Given the description of an element on the screen output the (x, y) to click on. 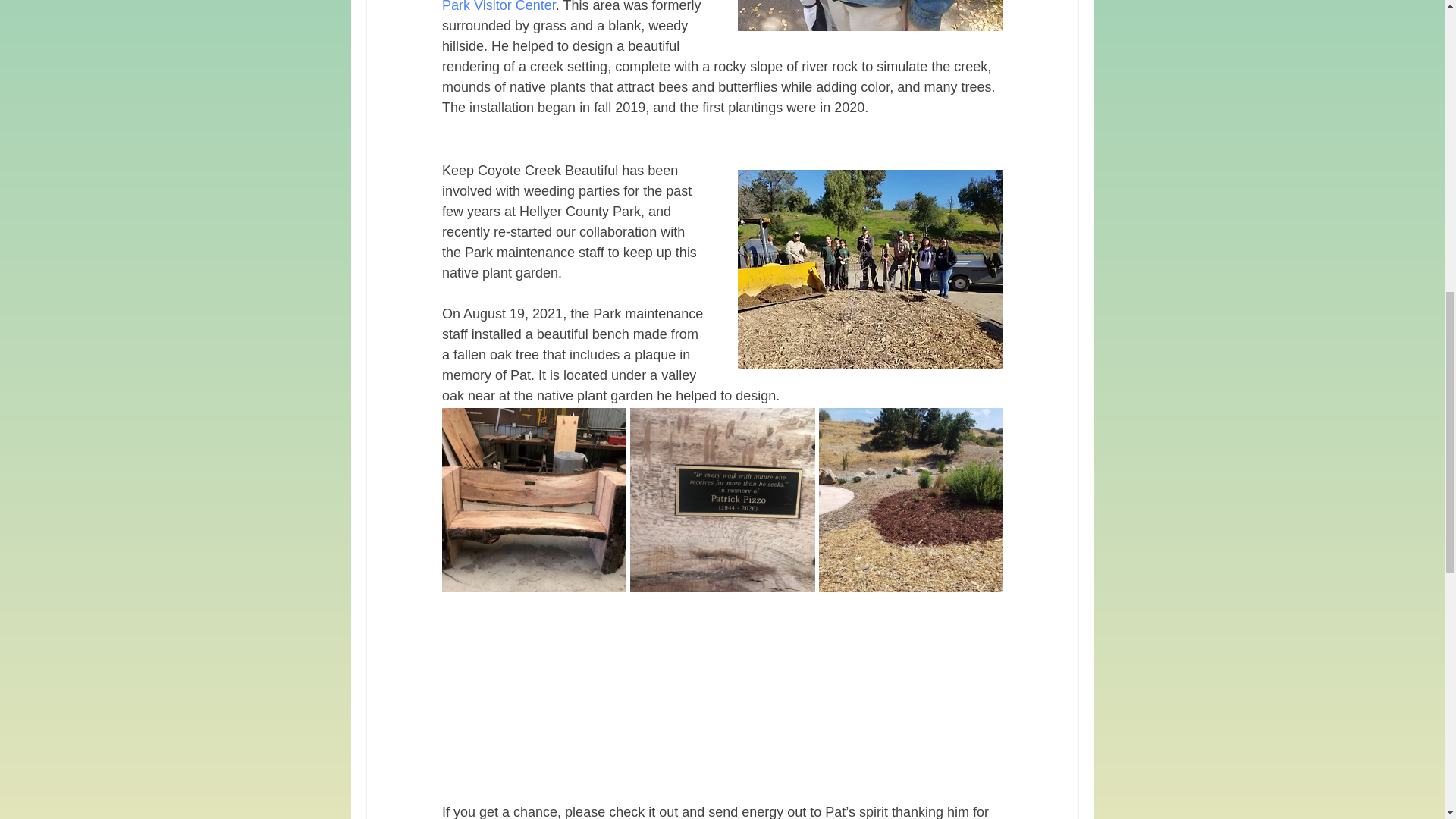
Hellyer County Park (567, 6)
Visitor Center (515, 6)
